Given the description of an element on the screen output the (x, y) to click on. 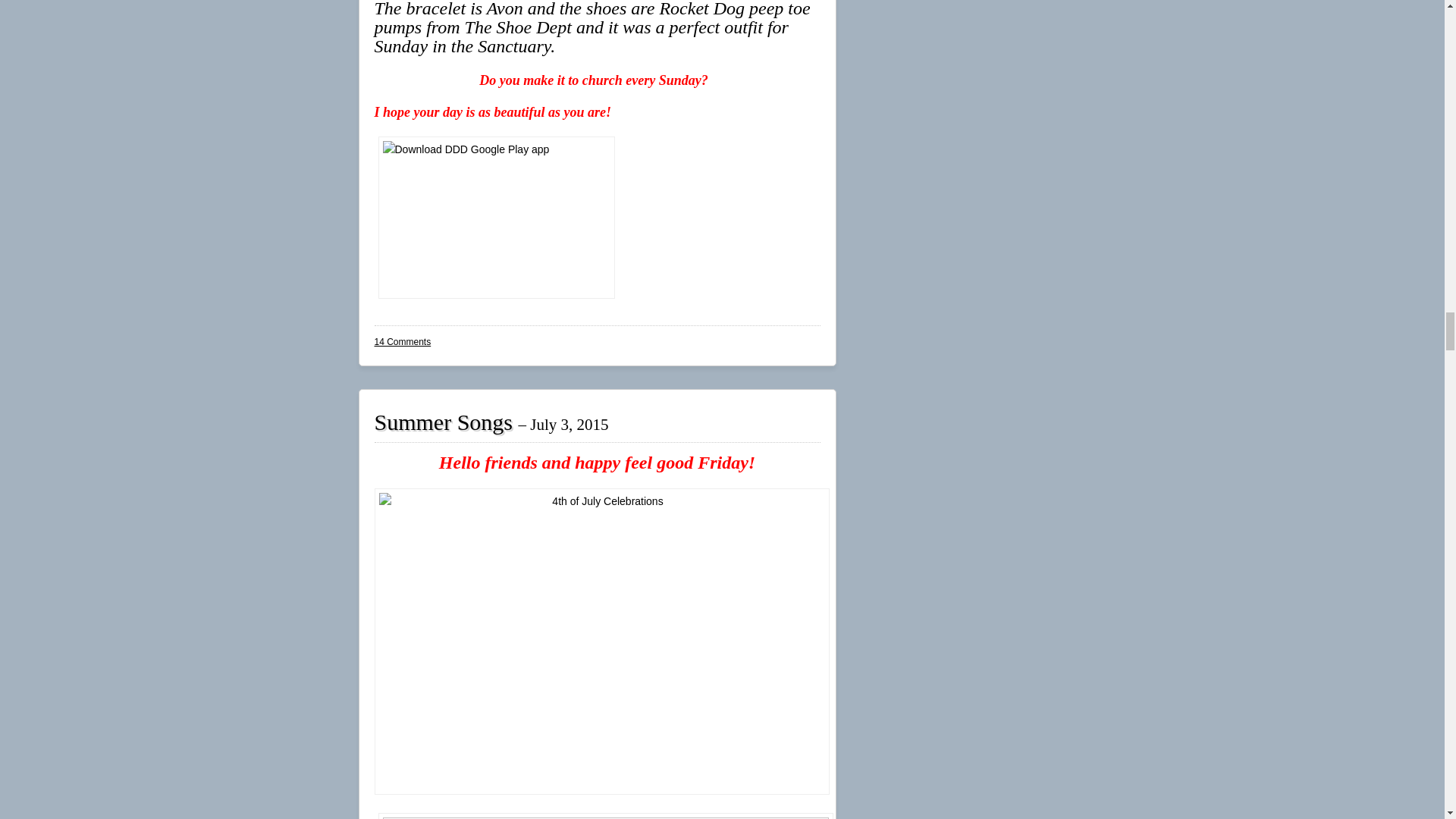
Summer Songs July 3, 2015 (491, 421)
14 Comments (402, 341)
